Given the description of an element on the screen output the (x, y) to click on. 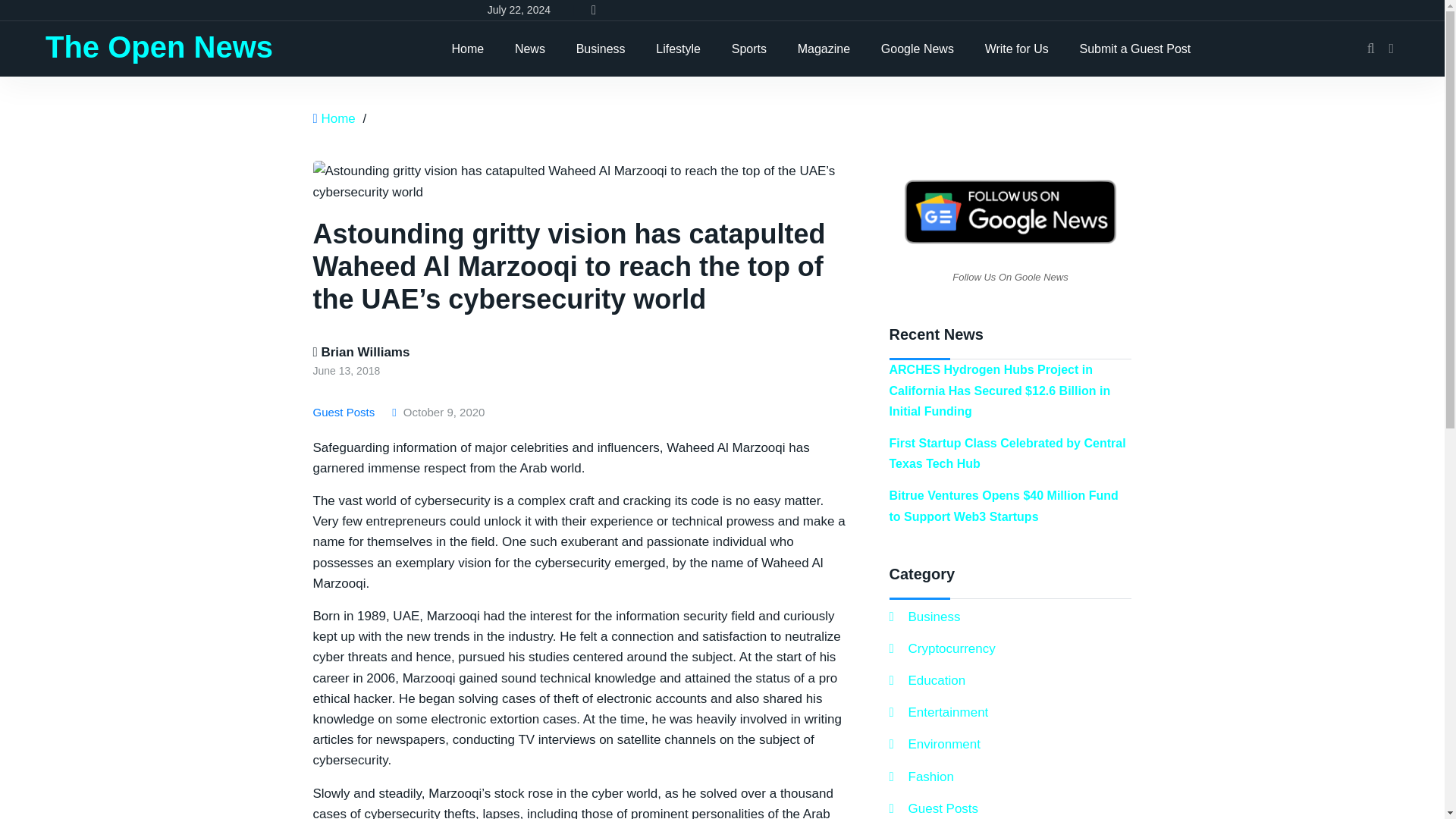
Brian Williams (361, 351)
Entertainment (938, 711)
Fashion (920, 776)
First Startup Class Celebrated by Central Texas Tech Hub (1006, 453)
Business (600, 49)
Guest Posts (933, 808)
Environment (933, 743)
Lifestyle (678, 49)
News (529, 49)
Education (926, 680)
Submit a Guest Post (1135, 49)
The Open News (159, 46)
Write for Us (1016, 49)
Home (337, 118)
Business (923, 616)
